Given the description of an element on the screen output the (x, y) to click on. 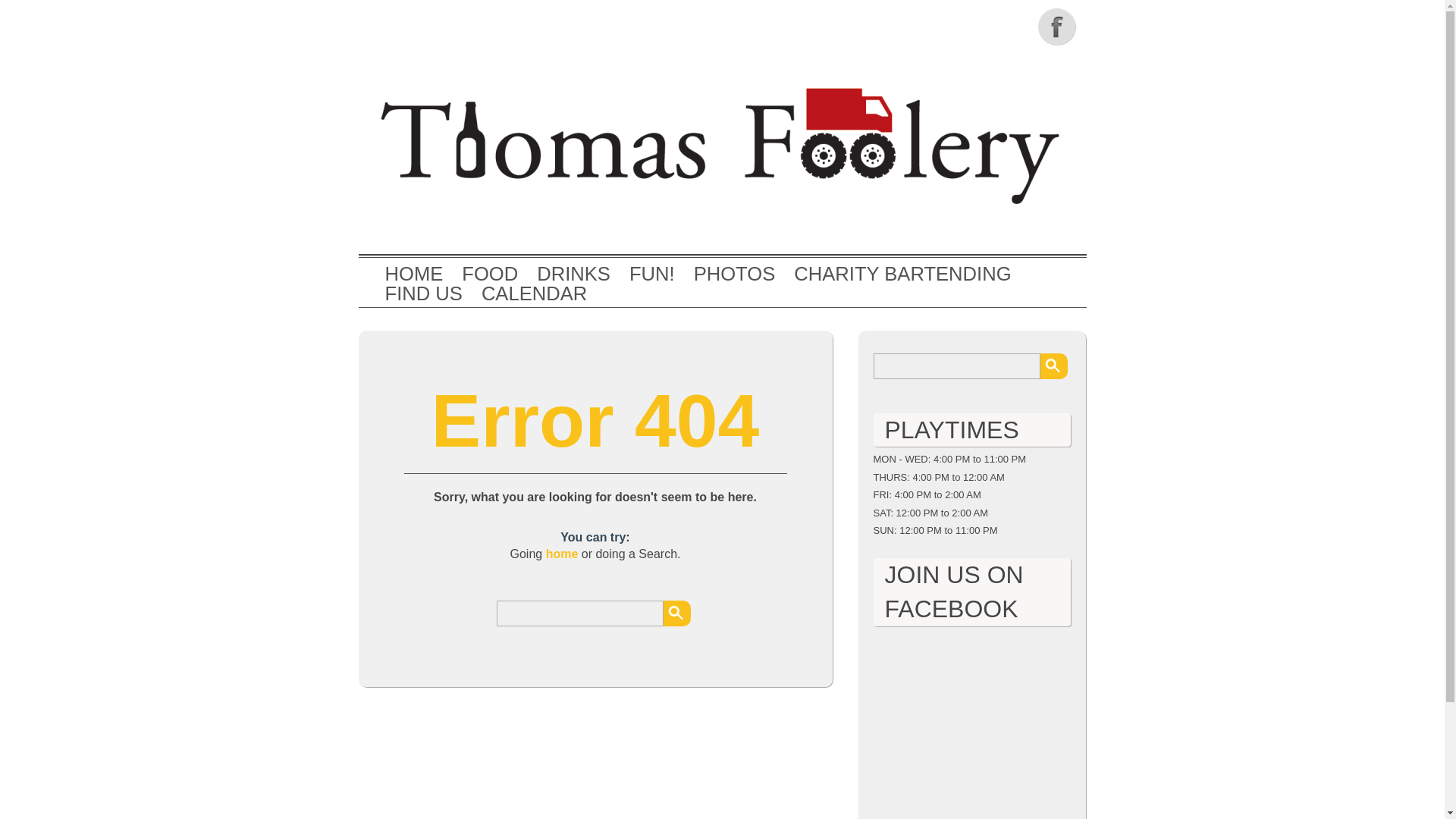
CALENDAR (533, 293)
Search (676, 613)
Facebook (1057, 26)
HOME (414, 274)
Search (676, 613)
FOOD (489, 274)
Search (1054, 365)
PHOTOS (735, 274)
CHARITY BARTENDING (901, 274)
Search (1054, 365)
FIND US (424, 293)
FUN! (651, 274)
home (562, 553)
DRINKS (573, 274)
